Given the description of an element on the screen output the (x, y) to click on. 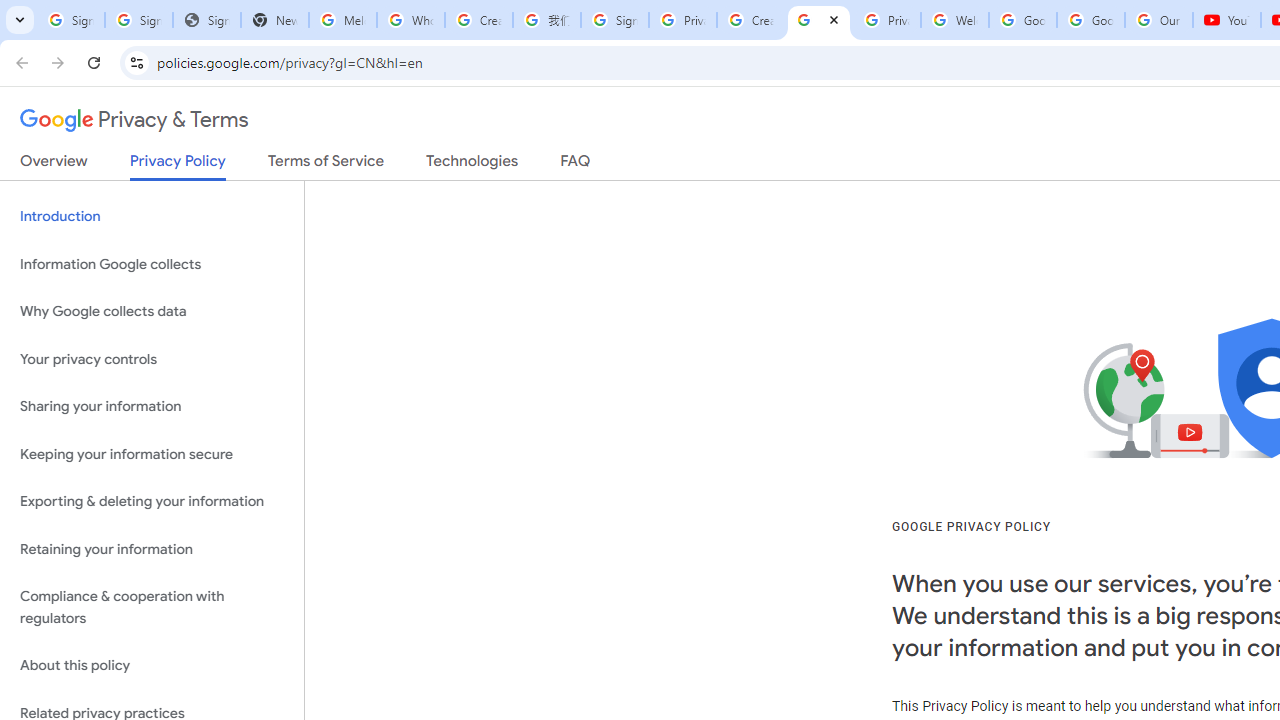
Why Google collects data (152, 312)
Keeping your information secure (152, 453)
Sharing your information (152, 407)
YouTube (1226, 20)
Sign in - Google Accounts (614, 20)
Information Google collects (152, 263)
Google Account (1091, 20)
New Tab (274, 20)
